Given the description of an element on the screen output the (x, y) to click on. 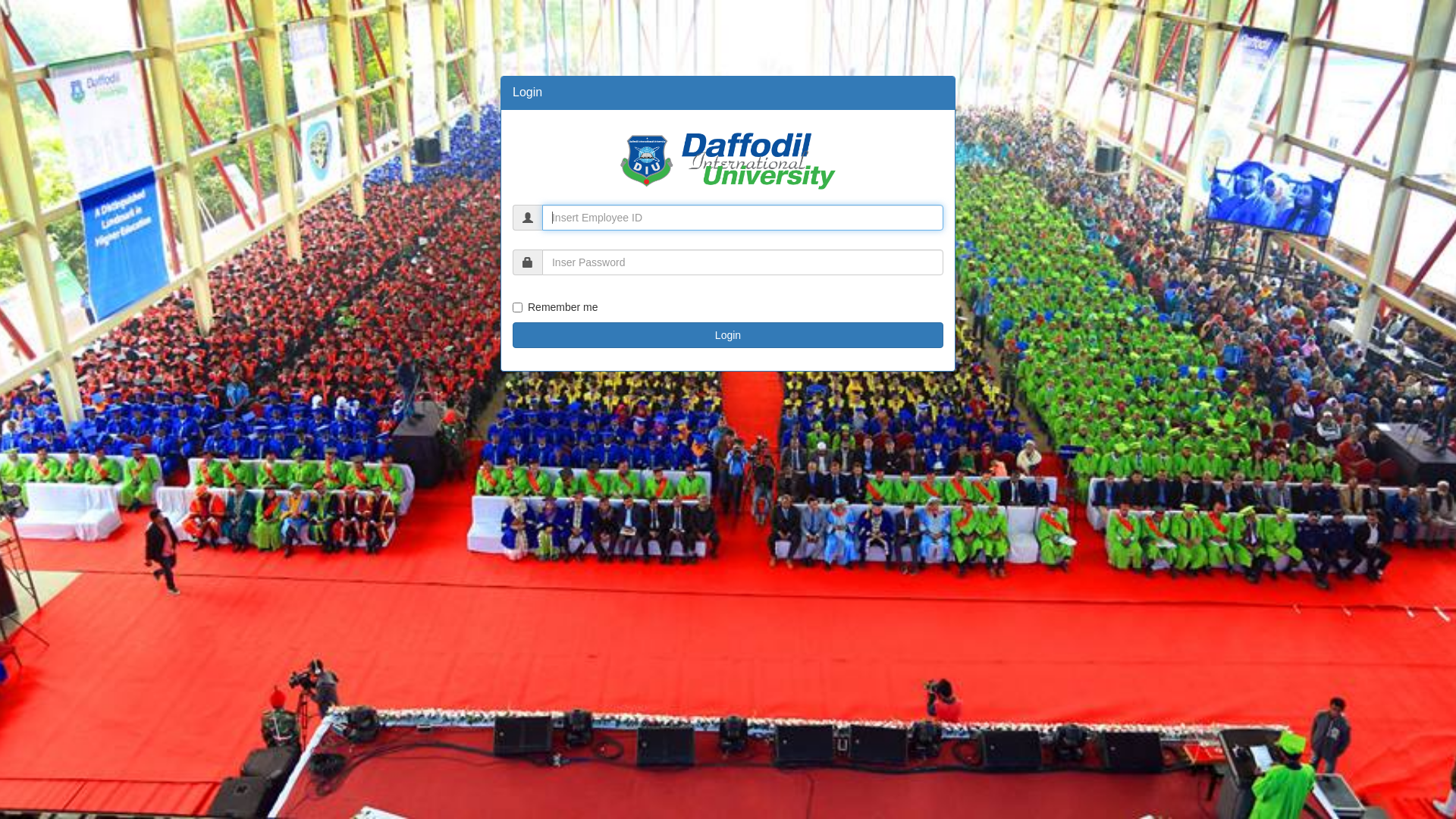
Login Element type: text (727, 335)
